Given the description of an element on the screen output the (x, y) to click on. 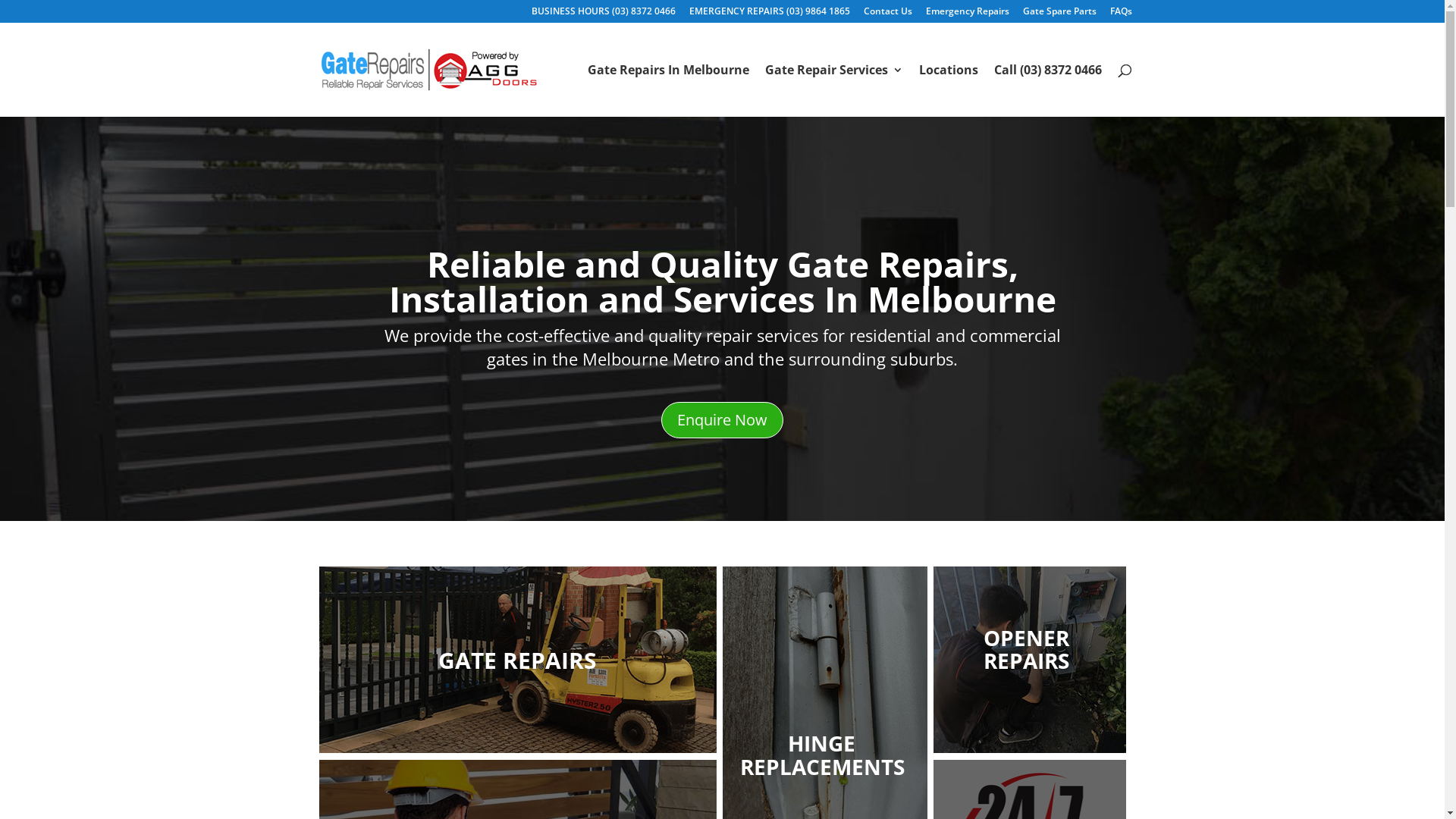
Locations Element type: text (948, 90)
BUSINESS HOURS (03) 8372 0466 Element type: text (602, 14)
OPENER REPAIRS Element type: text (1028, 747)
Emergency Repairs Element type: text (966, 14)
Gate Spare Parts Element type: text (1058, 14)
EMERGENCY REPAIRS (03) 9864 1865 Element type: text (768, 14)
Enquire Now Element type: text (722, 419)
Gate Repair Services Element type: text (833, 90)
GATE REPAIRS Element type: text (516, 747)
FAQs Element type: text (1121, 14)
Gate Repairs In Melbourne Element type: text (667, 90)
Contact Us Element type: text (886, 14)
Call (03) 8372 0466 Element type: text (1047, 90)
